Given the description of an element on the screen output the (x, y) to click on. 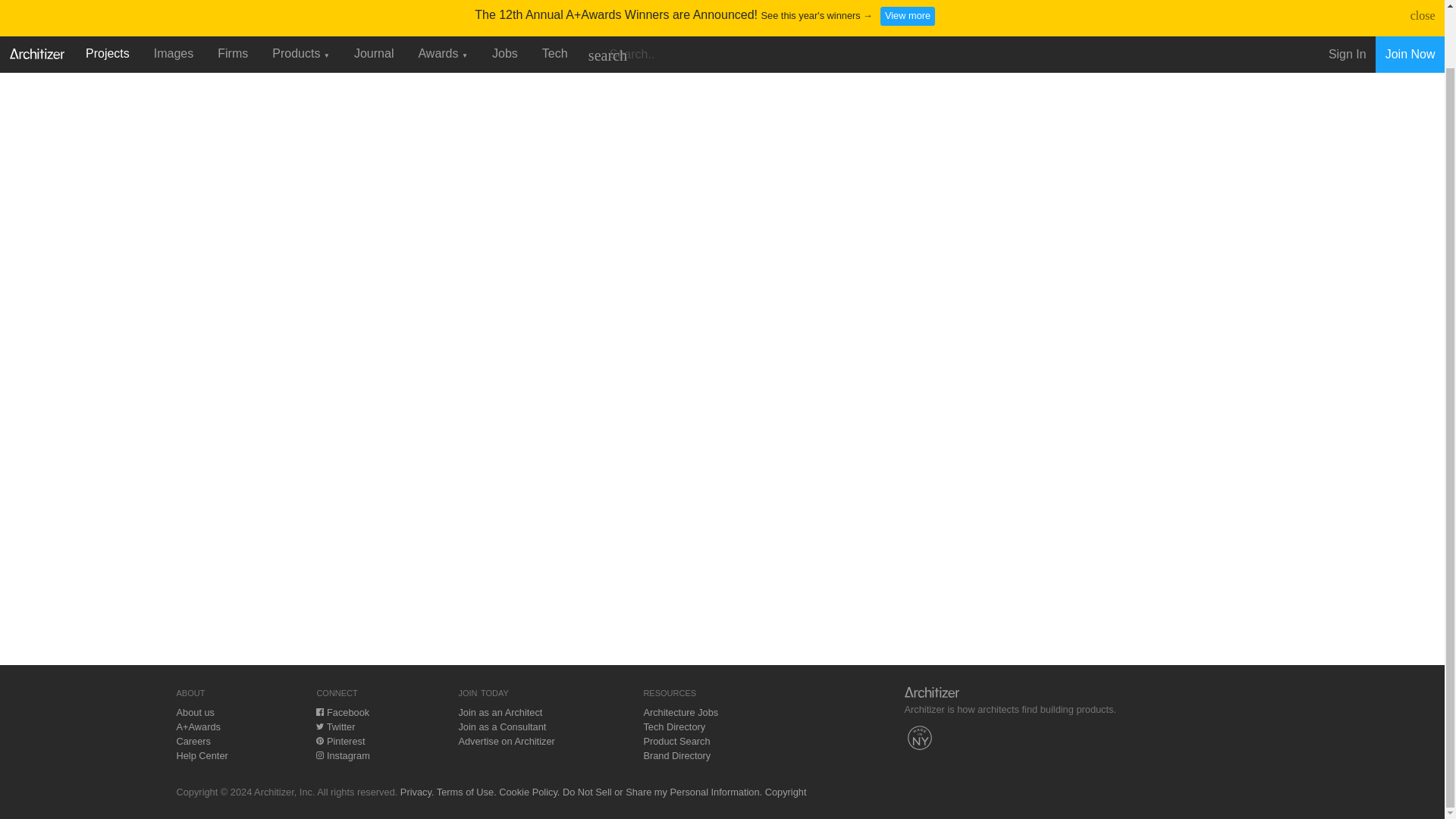
Facebook (342, 712)
Projects (107, 2)
Journal (374, 2)
Twitter (335, 726)
Help Center (201, 755)
Sign In (1347, 4)
Facebook icon (319, 711)
search (606, 4)
About us (195, 712)
Pinterest (340, 740)
